Given the description of an element on the screen output the (x, y) to click on. 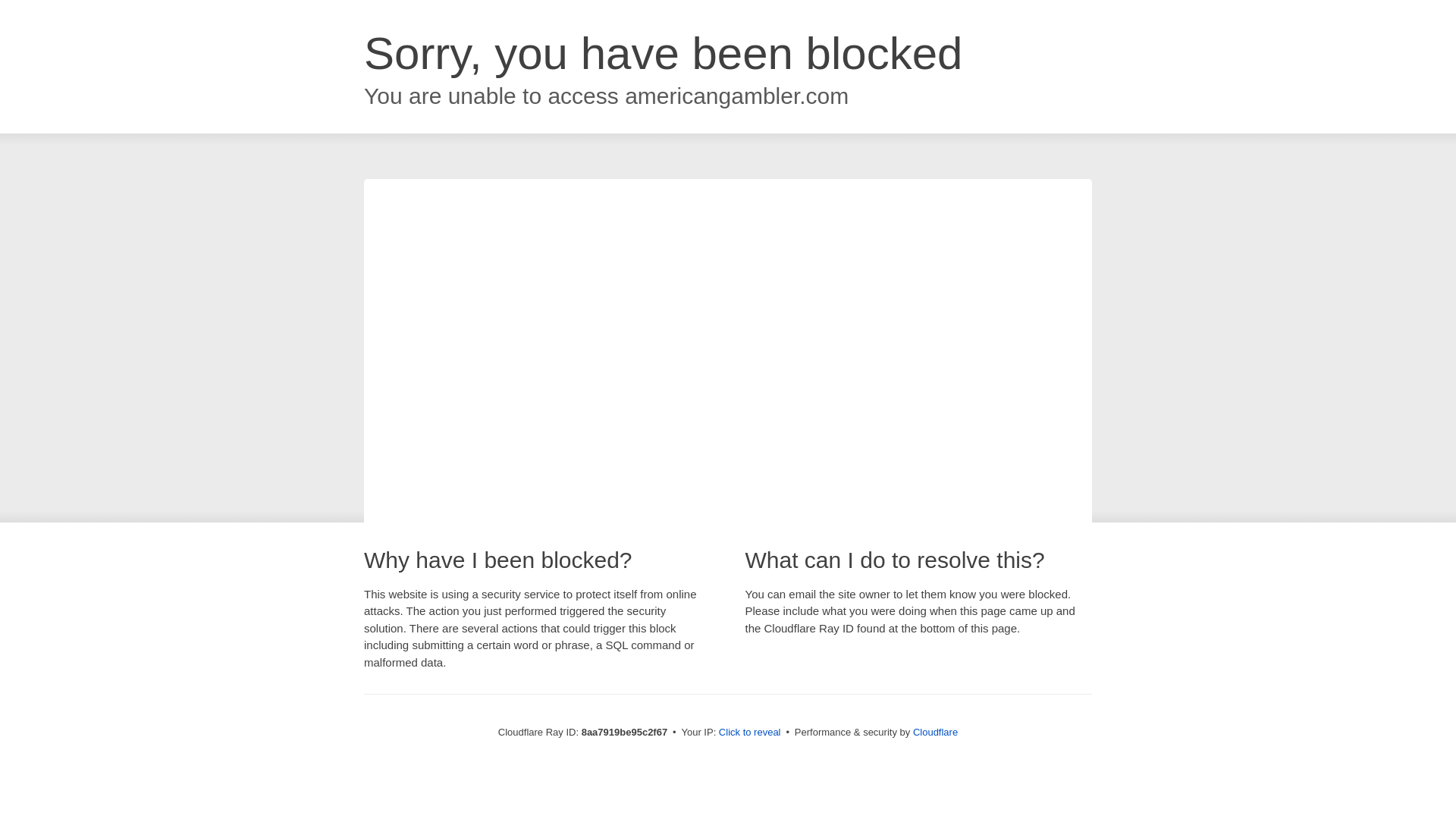
Click to reveal (749, 732)
Cloudflare (935, 731)
